Given the description of an element on the screen output the (x, y) to click on. 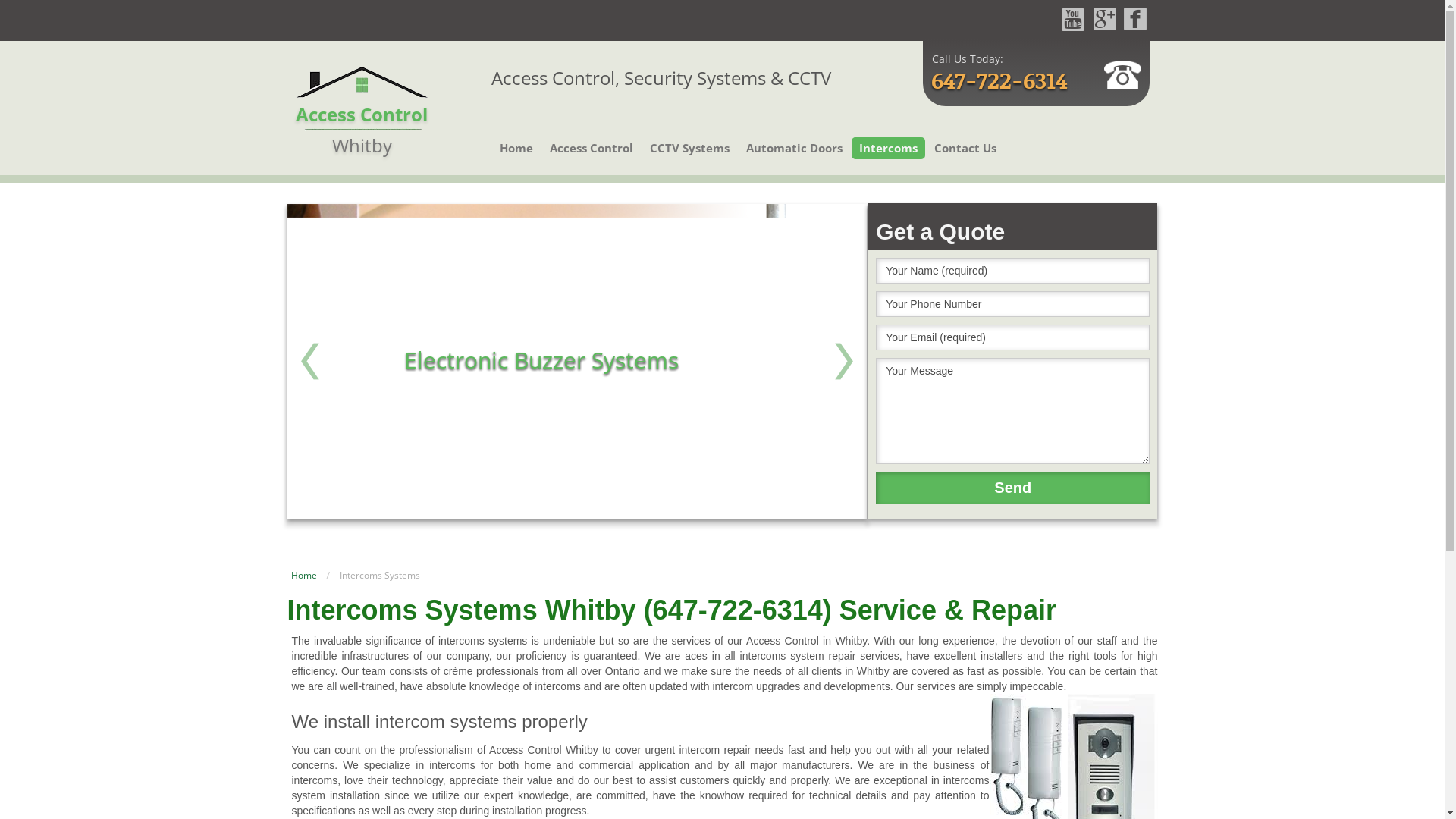
Automatic Doors Element type: text (794, 148)
Contact Us Element type: text (965, 148)
Home Element type: text (516, 148)
CCTV Systems Element type: text (689, 148)
Intercoms Element type: text (888, 148)
Home Element type: text (303, 574)
Send Element type: text (1012, 487)
Access Control Element type: text (591, 148)
